Given the description of an element on the screen output the (x, y) to click on. 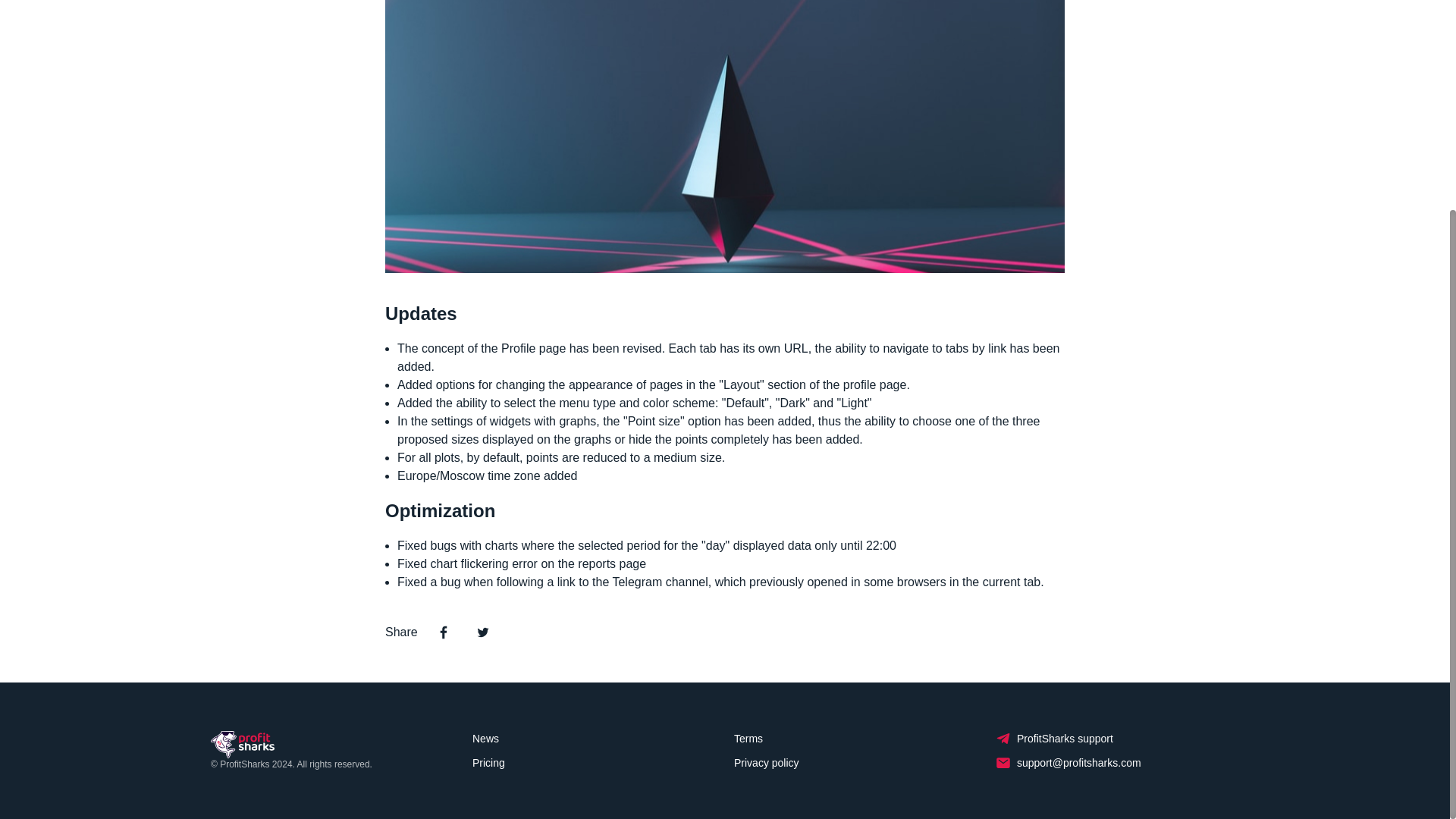
Privacy policy (766, 762)
Terms (747, 738)
News (485, 738)
ProfitSharks support (1054, 738)
Pricing (488, 762)
